Given the description of an element on the screen output the (x, y) to click on. 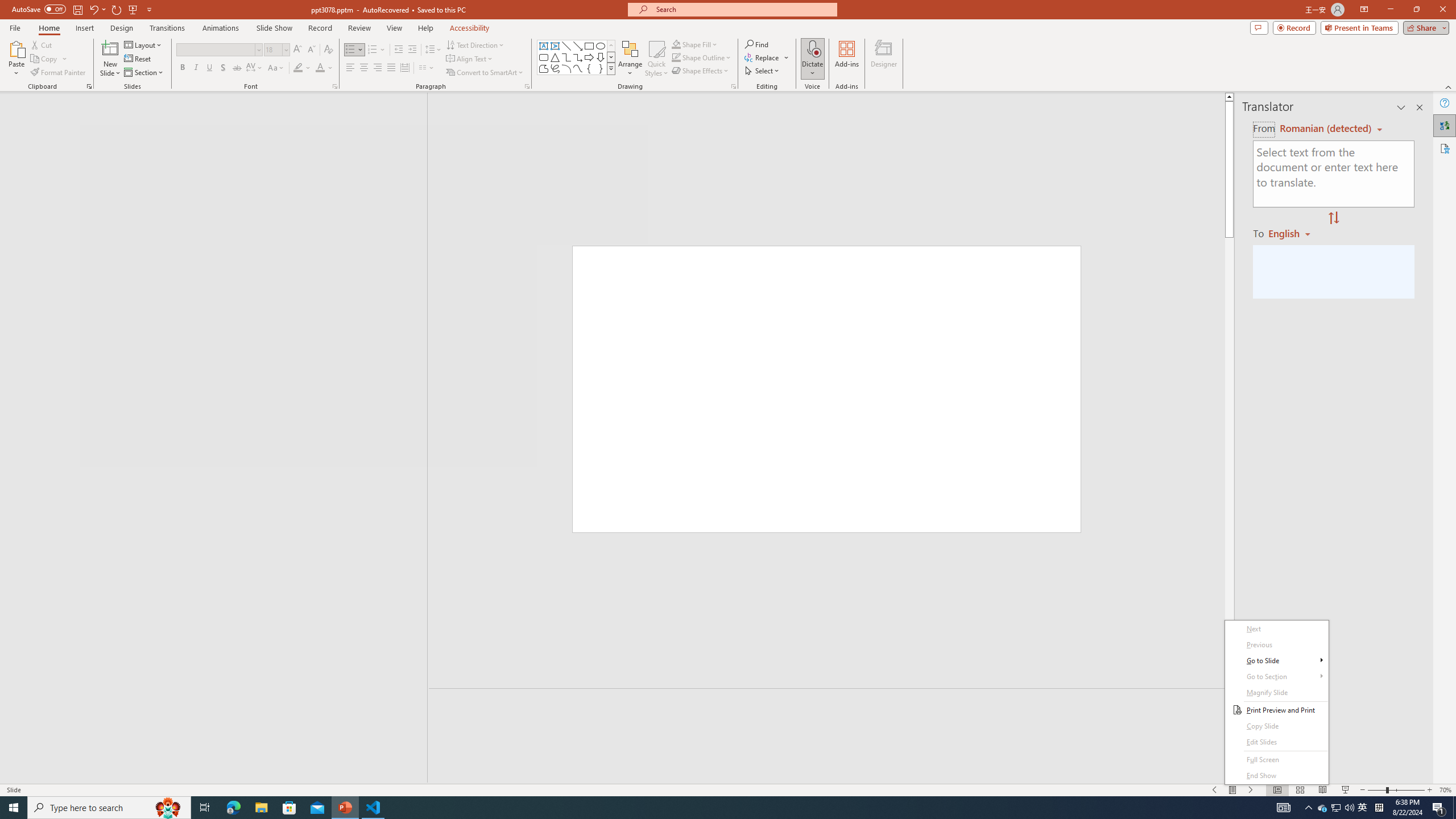
End Show (1276, 775)
Outline (218, 122)
Slide Notes (831, 705)
